Given the description of an element on the screen output the (x, y) to click on. 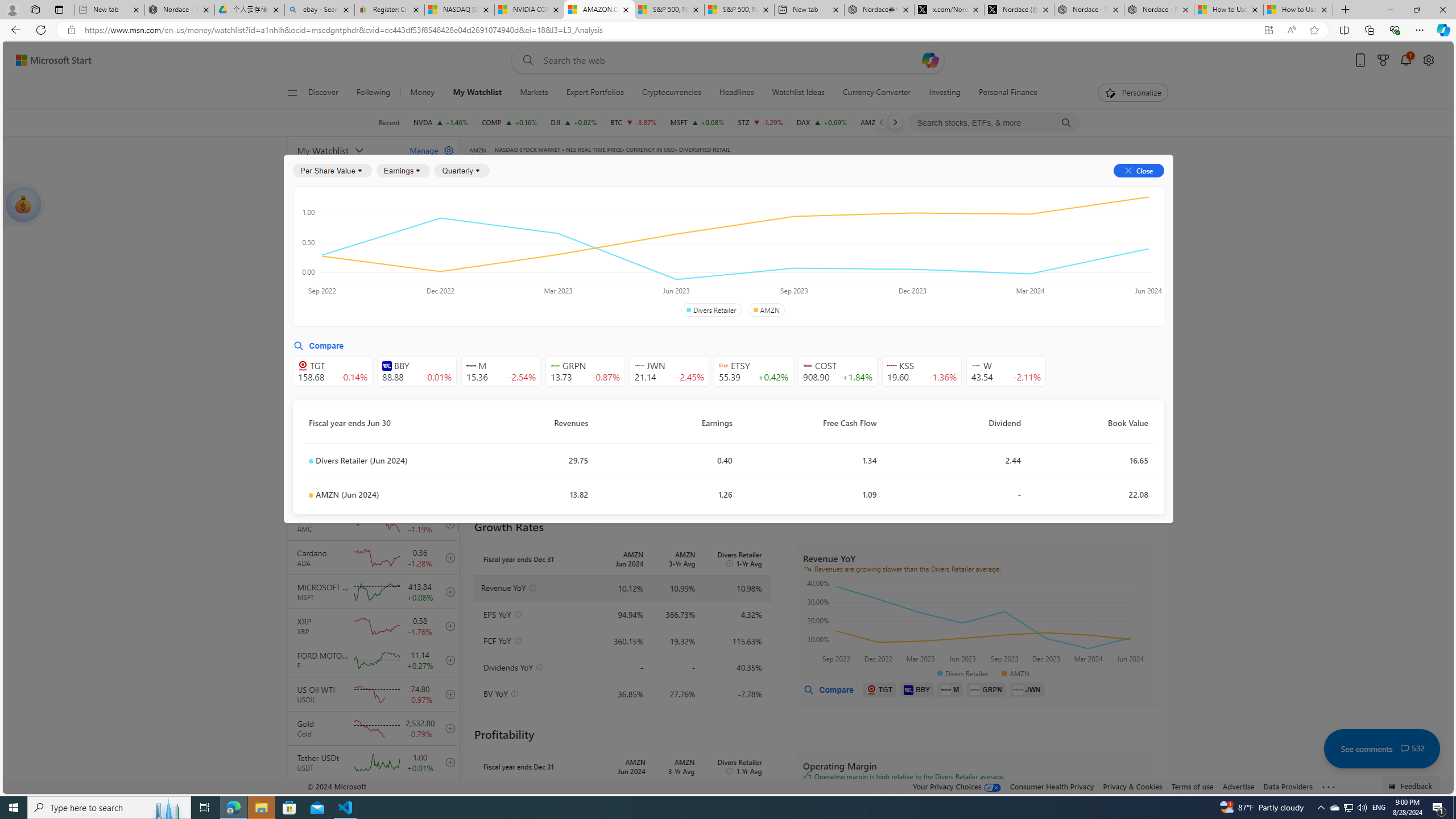
Earnings (402, 170)
Data Providers (1288, 786)
AMZN AMAZON.COM, INC. decrease 173.12 -2.38 -1.36% (887, 122)
Quarterly (461, 170)
Open navigation menu (292, 92)
Consumer Health Privacy (1051, 786)
TGT (879, 689)
Your Privacy Choices (956, 785)
Compare (827, 689)
Financials (846, 188)
ebay - Search (319, 9)
COMP NASDAQ increase 17,754.82 +29.06 +0.16% (509, 122)
Skip to content (49, 59)
